Given the description of an element on the screen output the (x, y) to click on. 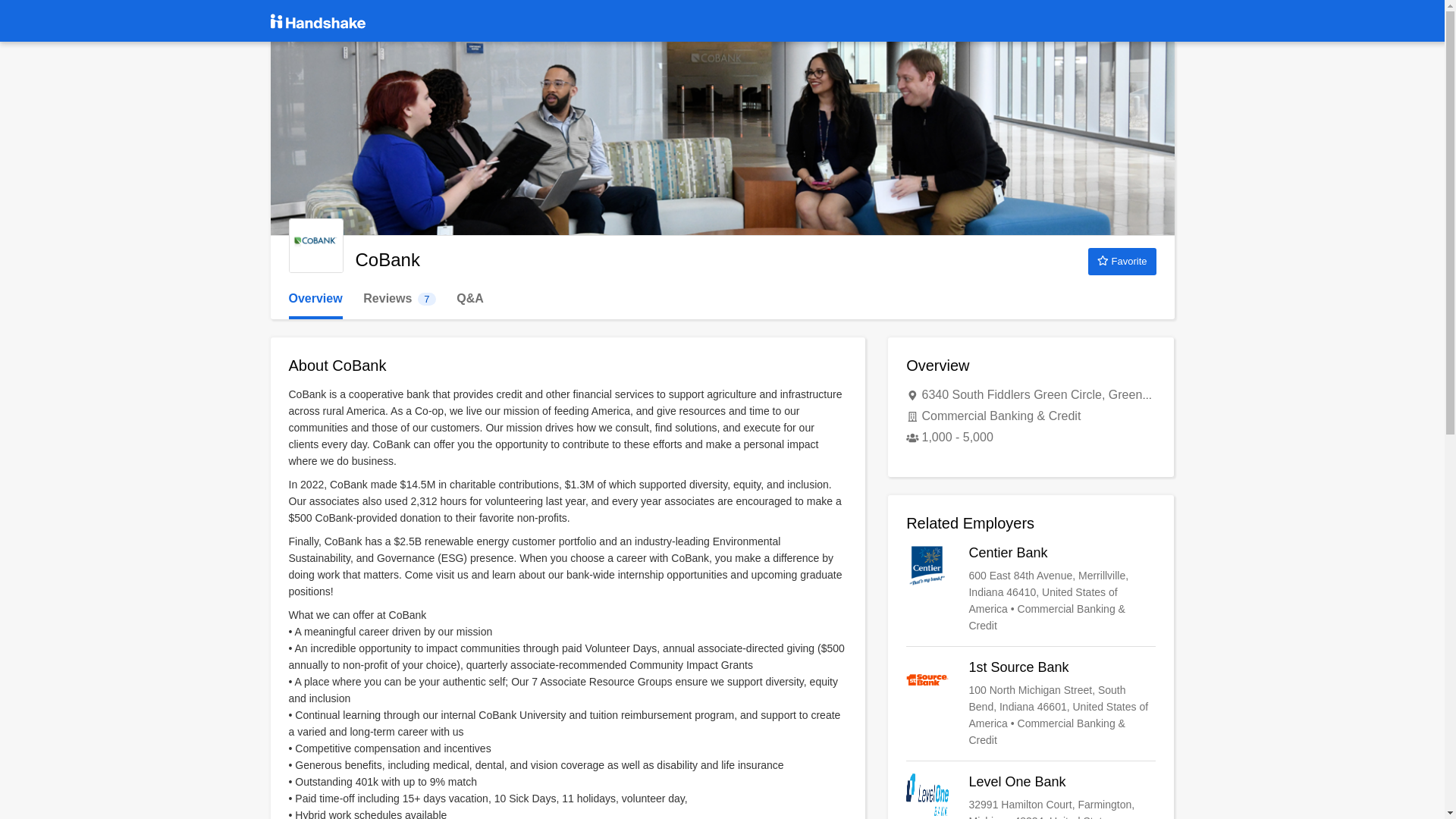
Centier Bank (398, 298)
1st Source Bank (1030, 588)
Level One Bank (1030, 703)
Overview (1030, 796)
CoBank (315, 298)
Favorite (315, 245)
